Given the description of an element on the screen output the (x, y) to click on. 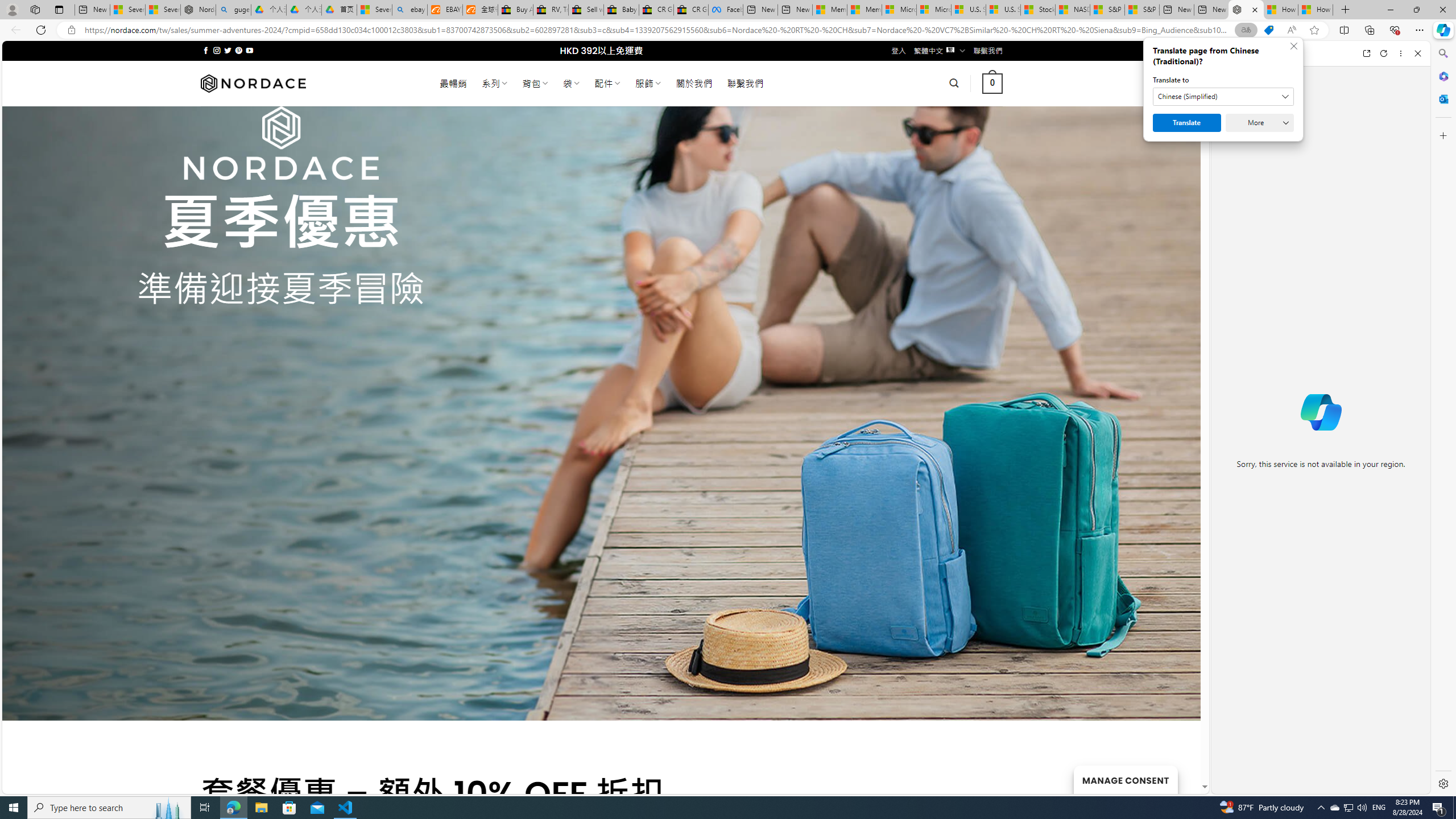
Translate (1187, 122)
Customize (1442, 135)
Side bar (1443, 418)
Baby Keepsakes & Announcements for sale | eBay (620, 9)
Settings (1442, 783)
